Given the description of an element on the screen output the (x, y) to click on. 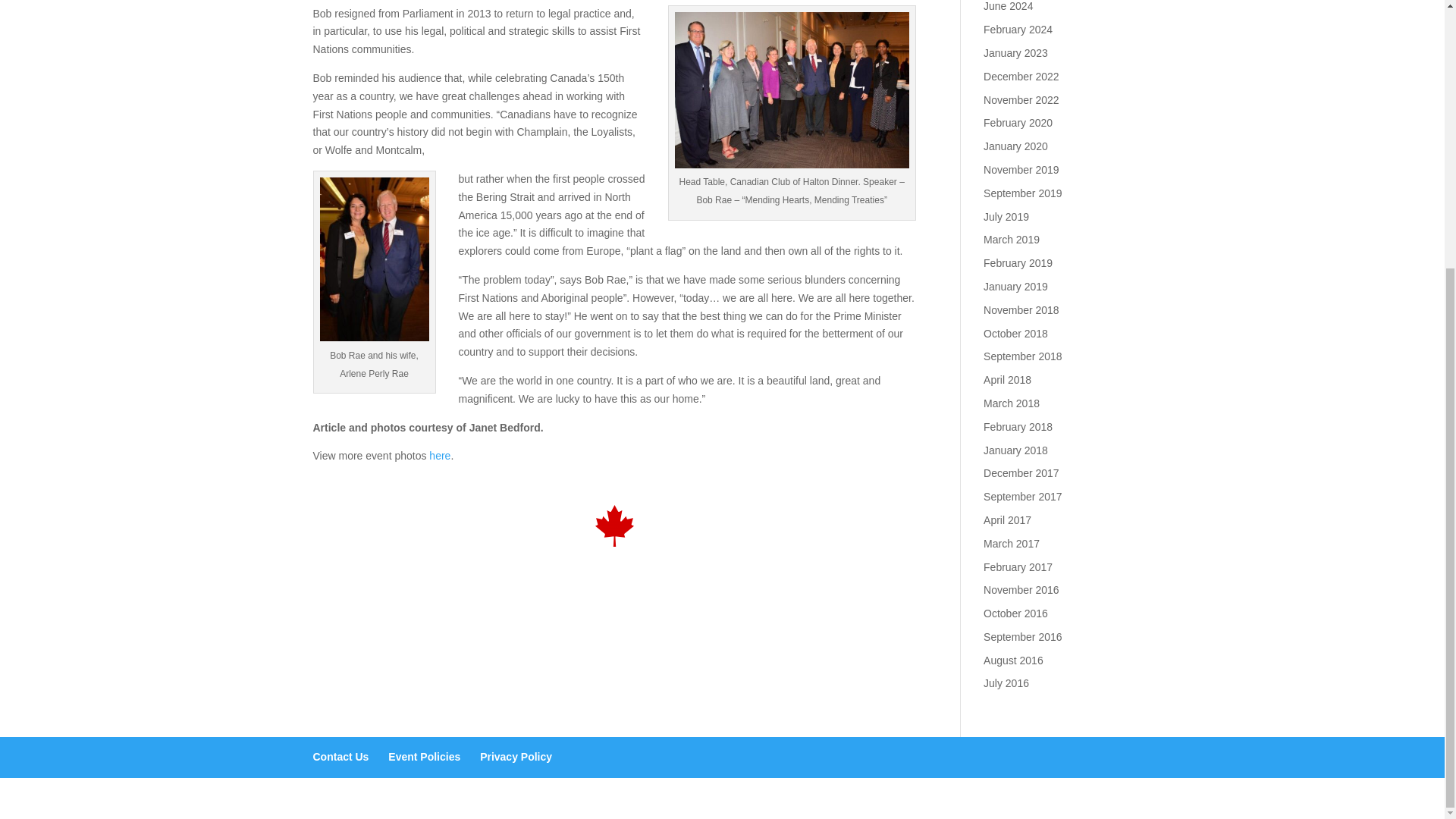
November 2019 (1021, 169)
February 2024 (1018, 29)
December 2022 (1021, 76)
September 2019 (1023, 193)
November 2018 (1021, 309)
here (439, 455)
January 2023 (1016, 52)
November 2022 (1021, 100)
Premium WordPress Themes (414, 797)
July 2019 (1006, 216)
February 2019 (1018, 263)
February 2020 (1018, 122)
January 2020 (1016, 146)
June 2024 (1008, 6)
January 2019 (1016, 286)
